Given the description of an element on the screen output the (x, y) to click on. 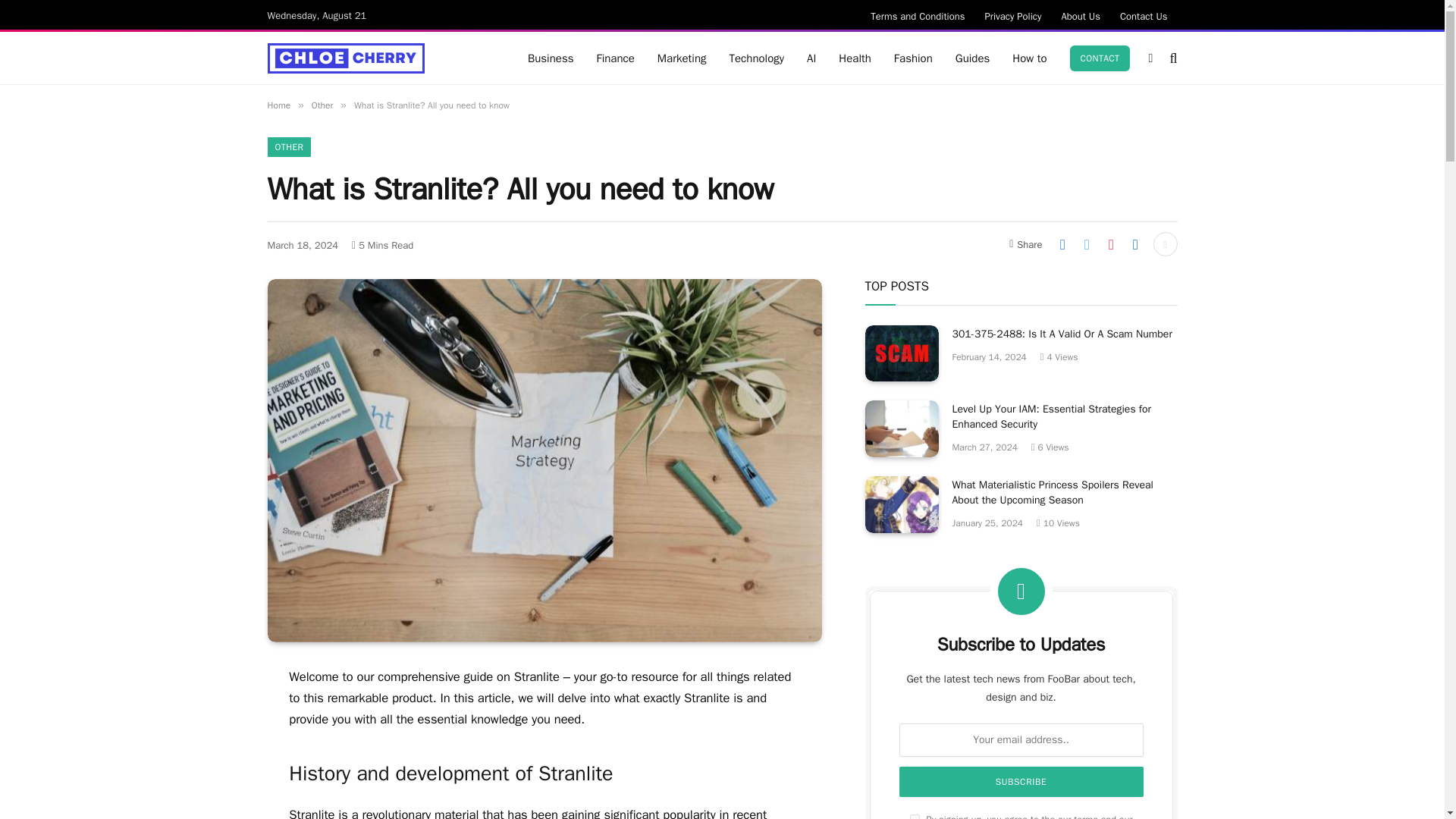
Share on Facebook (1062, 243)
Switch to Dark Design - easier on eyes. (1149, 57)
Finance (615, 57)
Health (854, 57)
Marketing (681, 57)
About Us (1080, 15)
Guides (972, 57)
Business (550, 57)
How to (1029, 57)
Technology (756, 57)
